Given the description of an element on the screen output the (x, y) to click on. 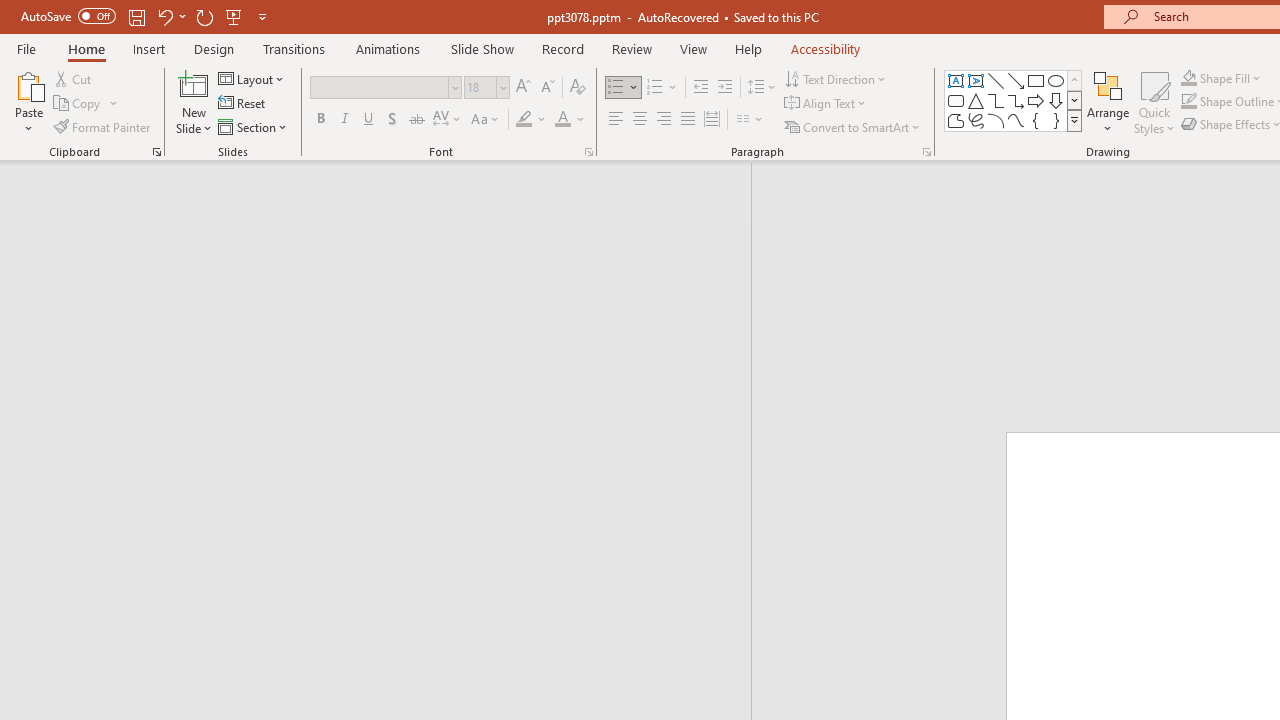
Change Case (486, 119)
Format Painter (103, 126)
Underline (369, 119)
Strikethrough (416, 119)
Copy (85, 103)
Increase Indent (725, 87)
Shape Fill Dark Green, Accent 2 (1188, 78)
Text Highlight Color Yellow (524, 119)
